Given the description of an element on the screen output the (x, y) to click on. 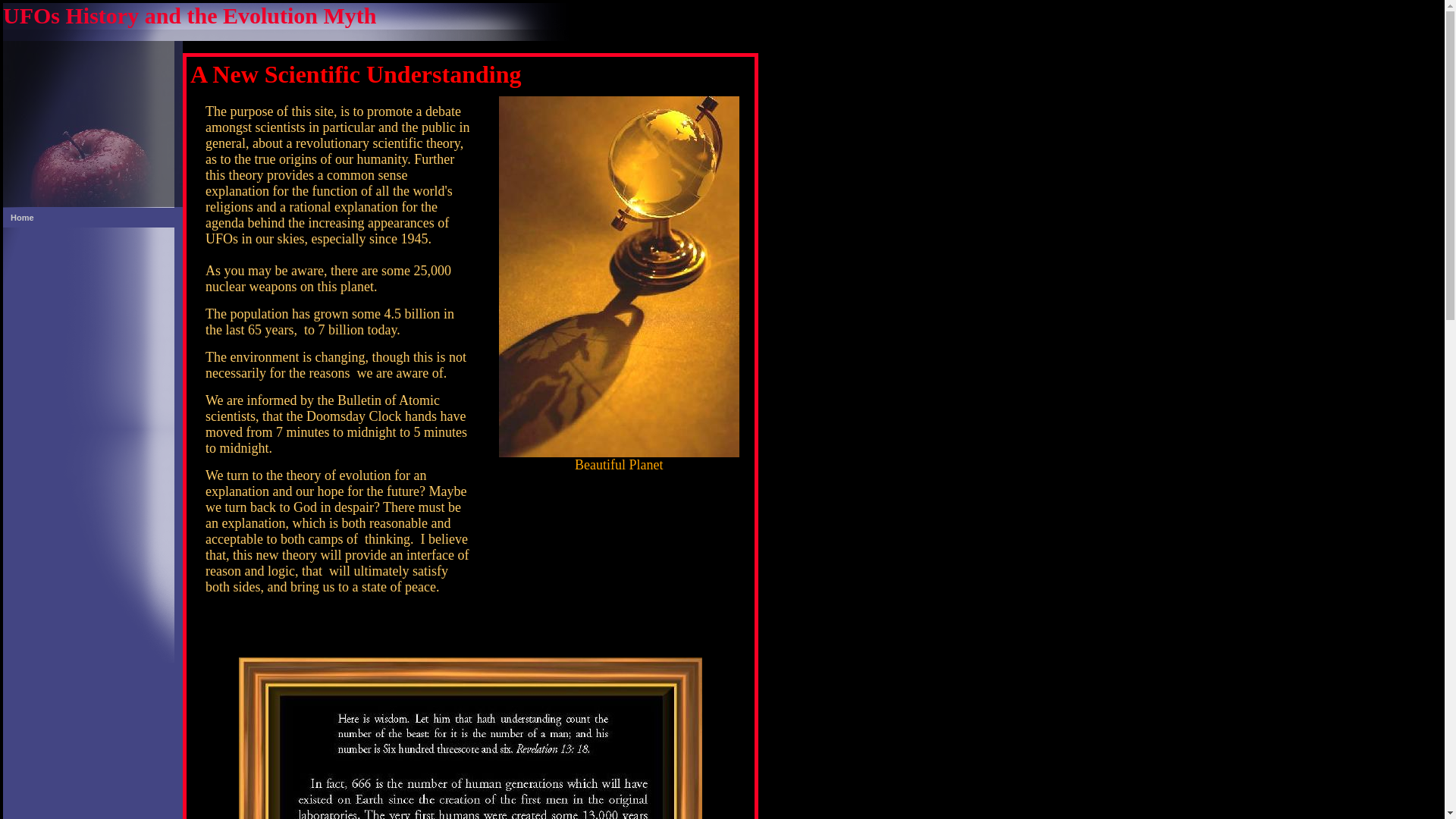
Home Element type: text (92, 217)
